Given the description of an element on the screen output the (x, y) to click on. 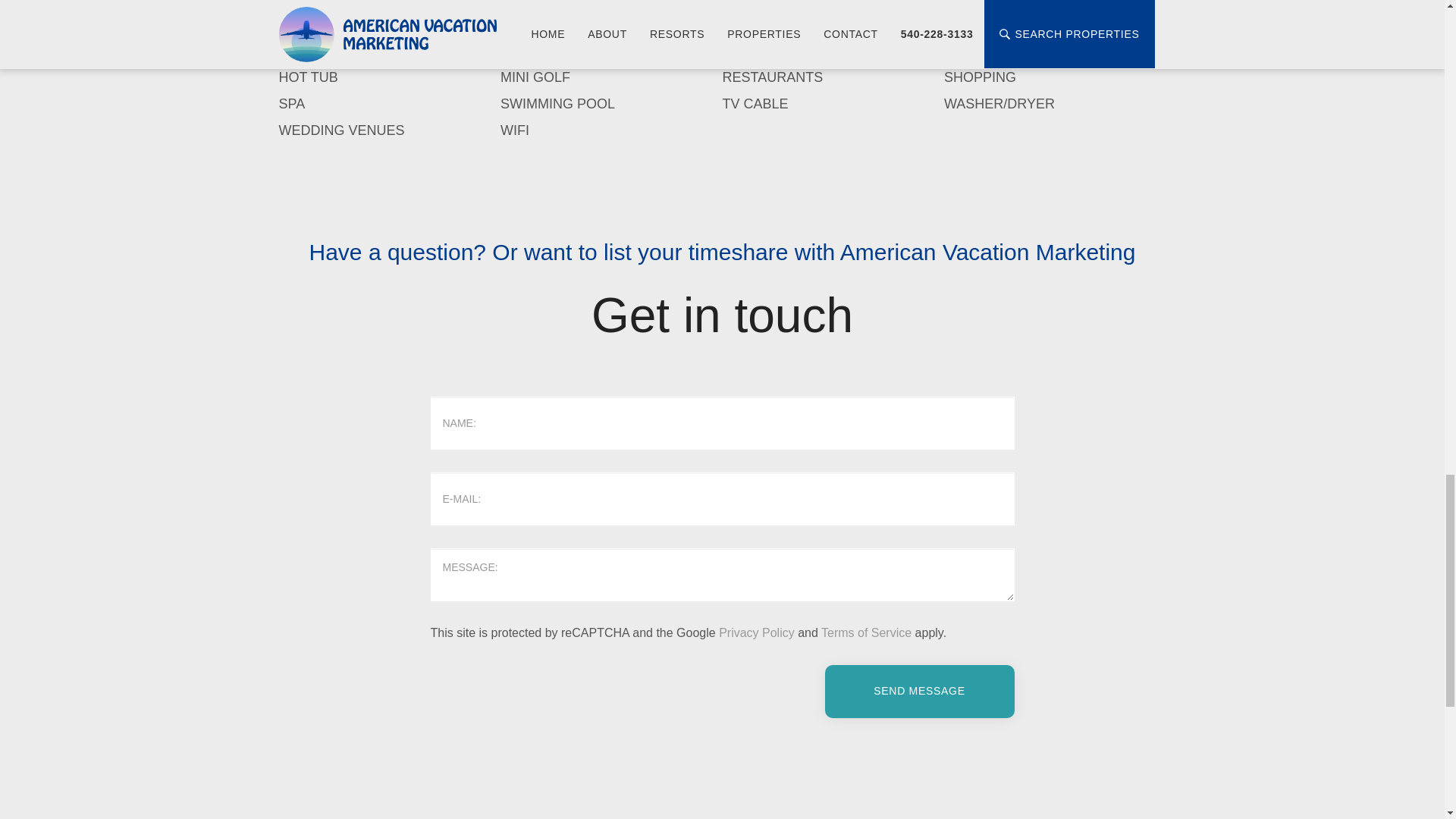
CASINOS (309, 23)
BARBEQUE (759, 2)
FITNESS CENTER (1002, 23)
AIR CONDITIONING (342, 2)
HOT TUB (308, 77)
BUSINESS CENTER (1008, 2)
RESTAURANTS (772, 77)
SEND MESSAGE (919, 691)
ARCADE GAME ROOM (573, 2)
MINI GOLF (535, 77)
DINNER SHOWS (554, 23)
FULL KITCHEN (327, 49)
HISTORICAL SITES (1005, 49)
SHOPPING (979, 77)
GAME ROOM (543, 49)
